Given the description of an element on the screen output the (x, y) to click on. 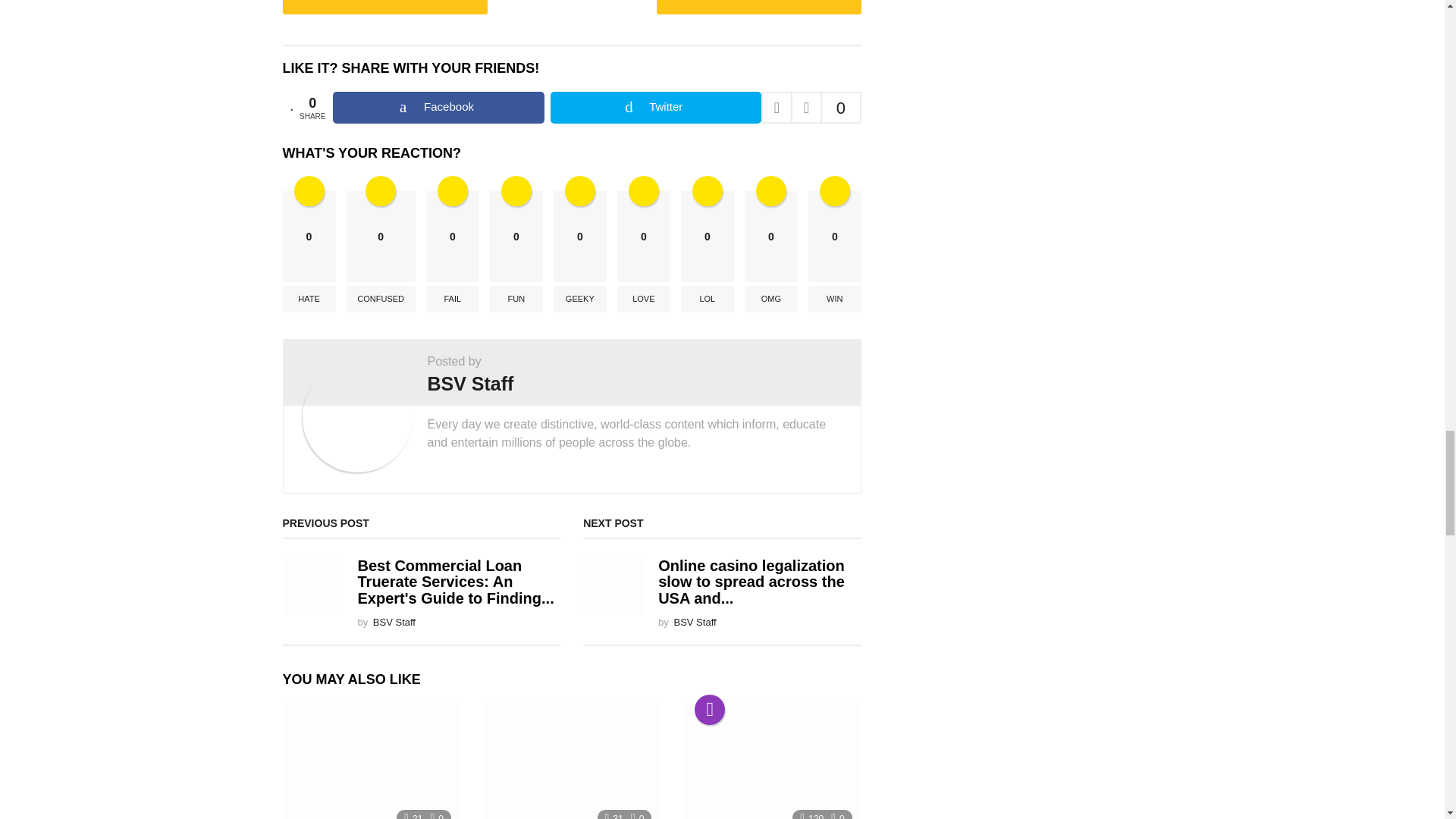
Share on Facebook (438, 107)
Facebook (438, 107)
Trending (709, 709)
Recruit Remote Workers to Expand Your Remote Business (572, 760)
PREVIOUS POST (384, 7)
NEXT POST (758, 7)
Share on Twitter (655, 107)
